Given the description of an element on the screen output the (x, y) to click on. 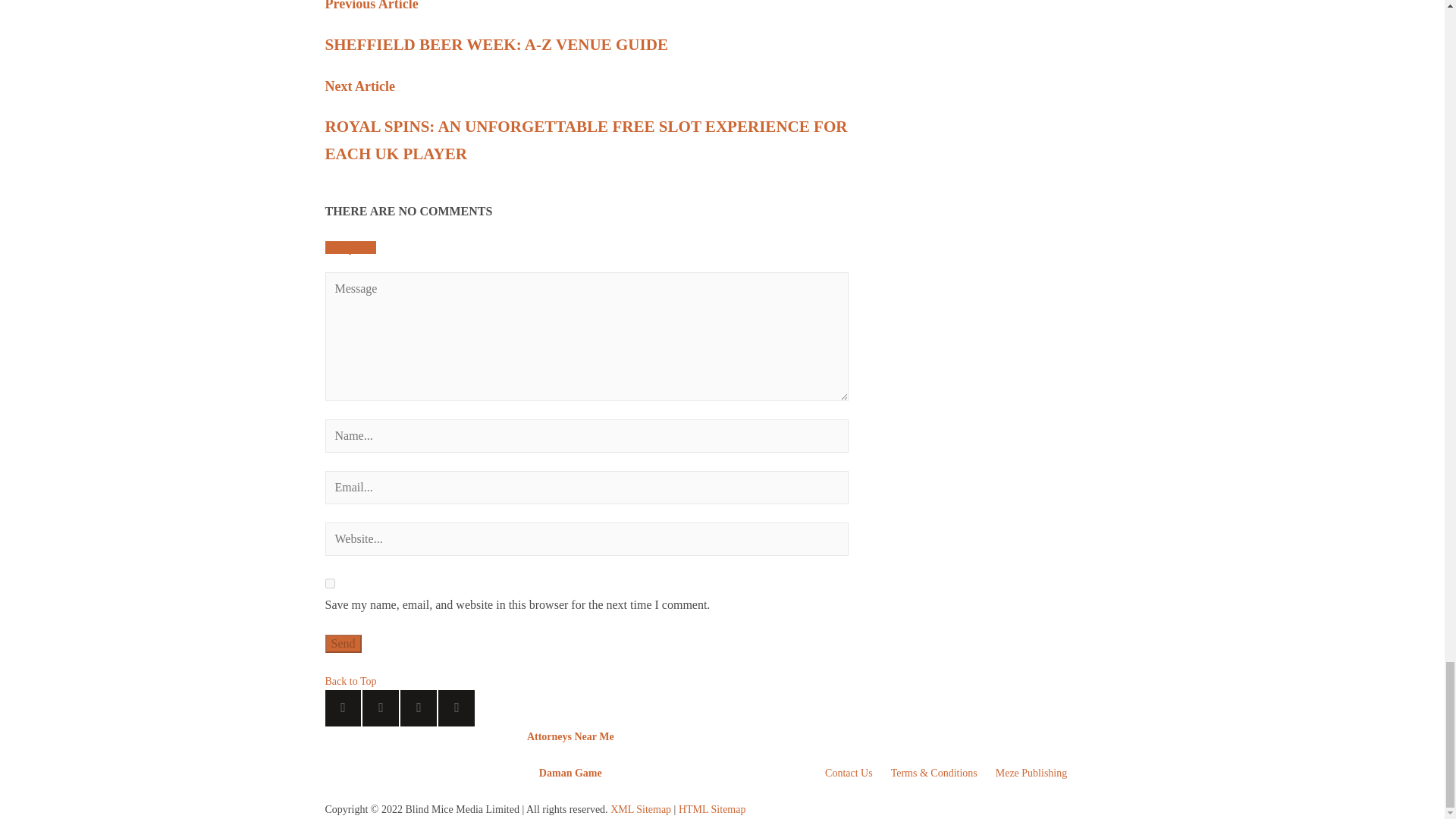
Send (342, 643)
yes (329, 583)
